Given the description of an element on the screen output the (x, y) to click on. 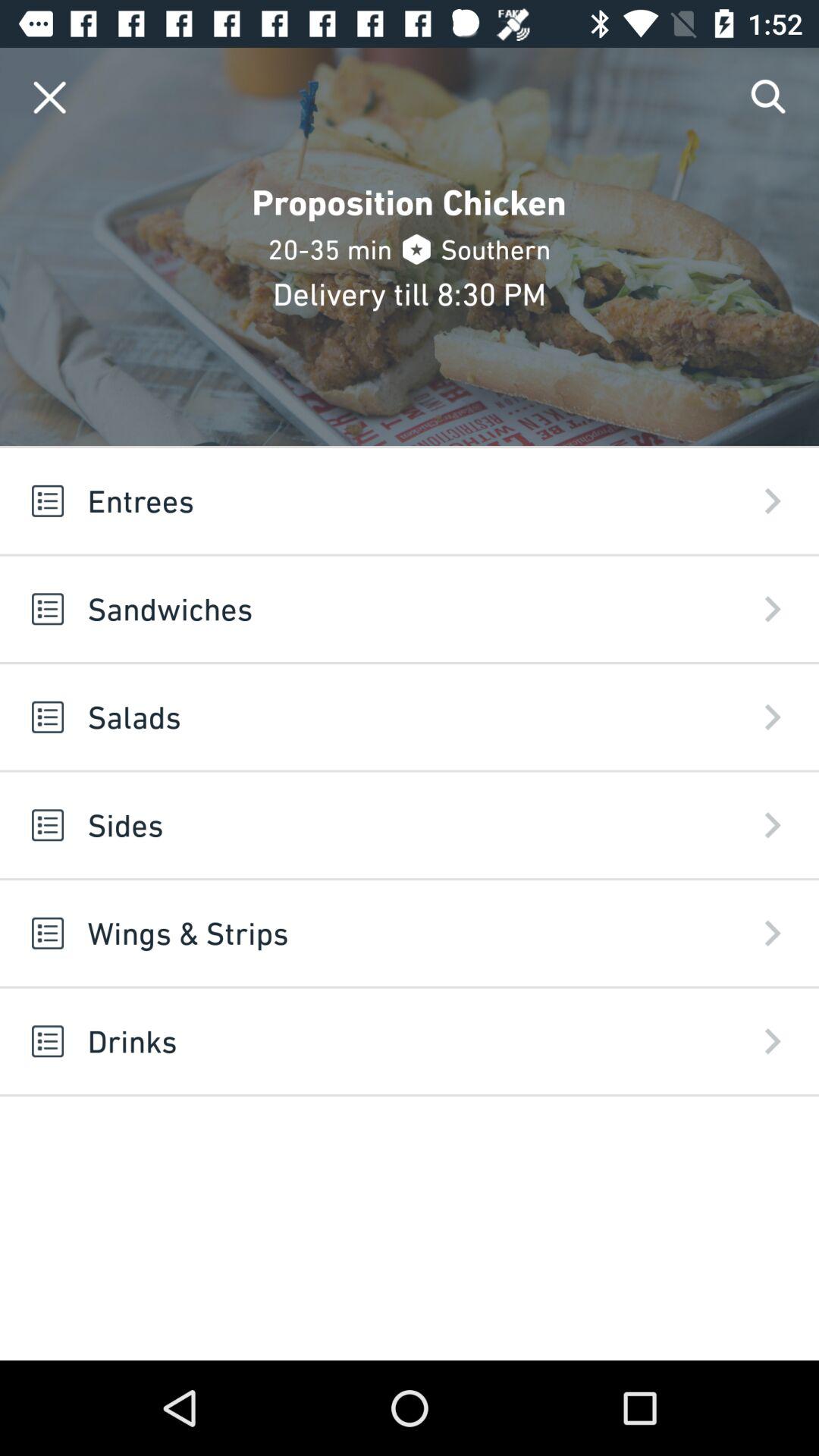
turn on item at the top right corner (769, 97)
